Given the description of an element on the screen output the (x, y) to click on. 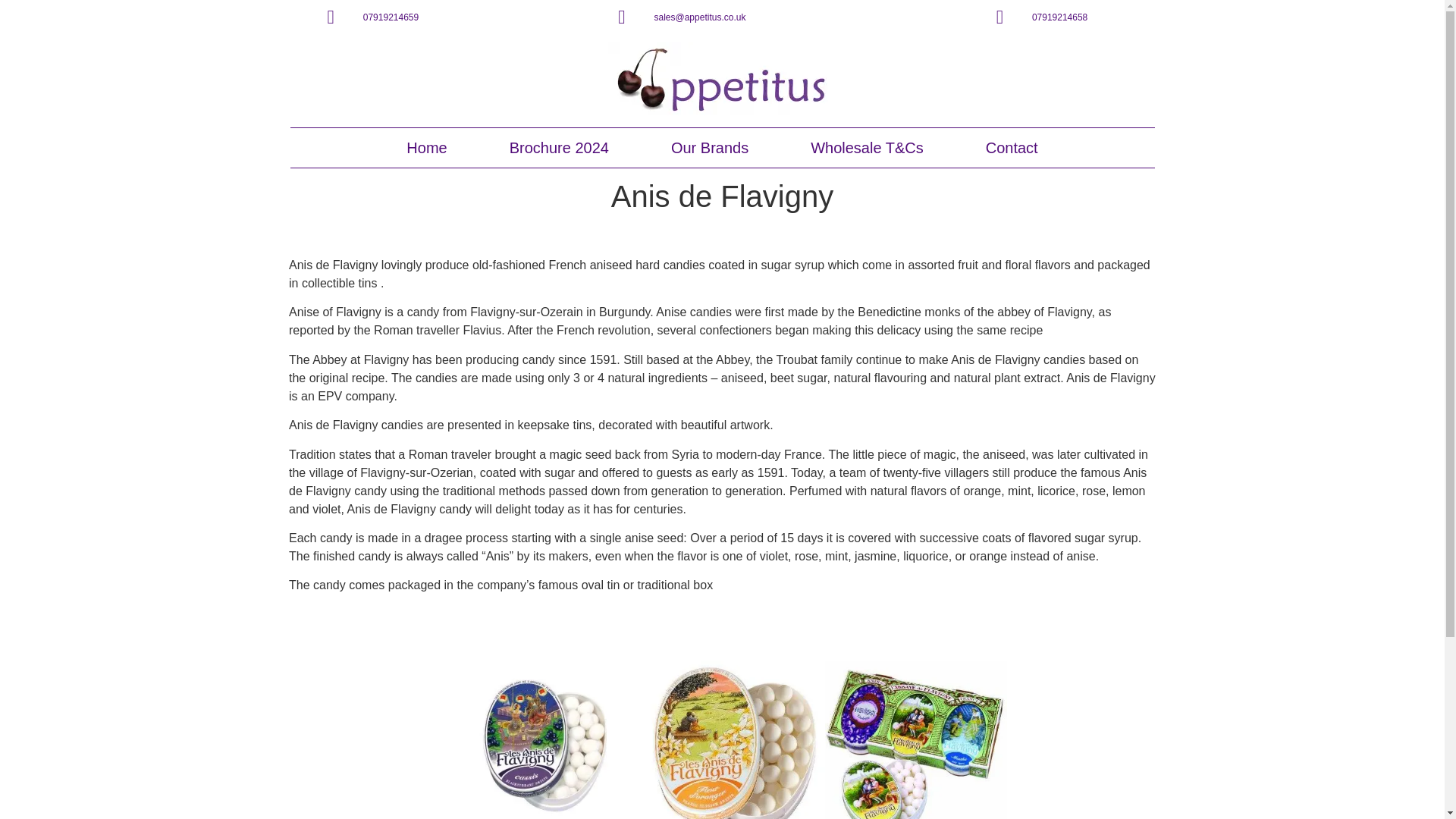
Oval Tin Blackcurrant 50g (552, 739)
Brochure 2024 (559, 147)
Home (426, 147)
Anis-de-Flavigny-Oval-Tin-Gift-Set-Violet-Anise-Mint-3-x-50g (916, 739)
07919214659 (373, 16)
Anis-de-Flavigny-Oval-Tin-Orange-Blossom-50g (734, 739)
Our Brands (709, 147)
07919214658 (1041, 16)
Contact (1011, 147)
